Given the description of an element on the screen output the (x, y) to click on. 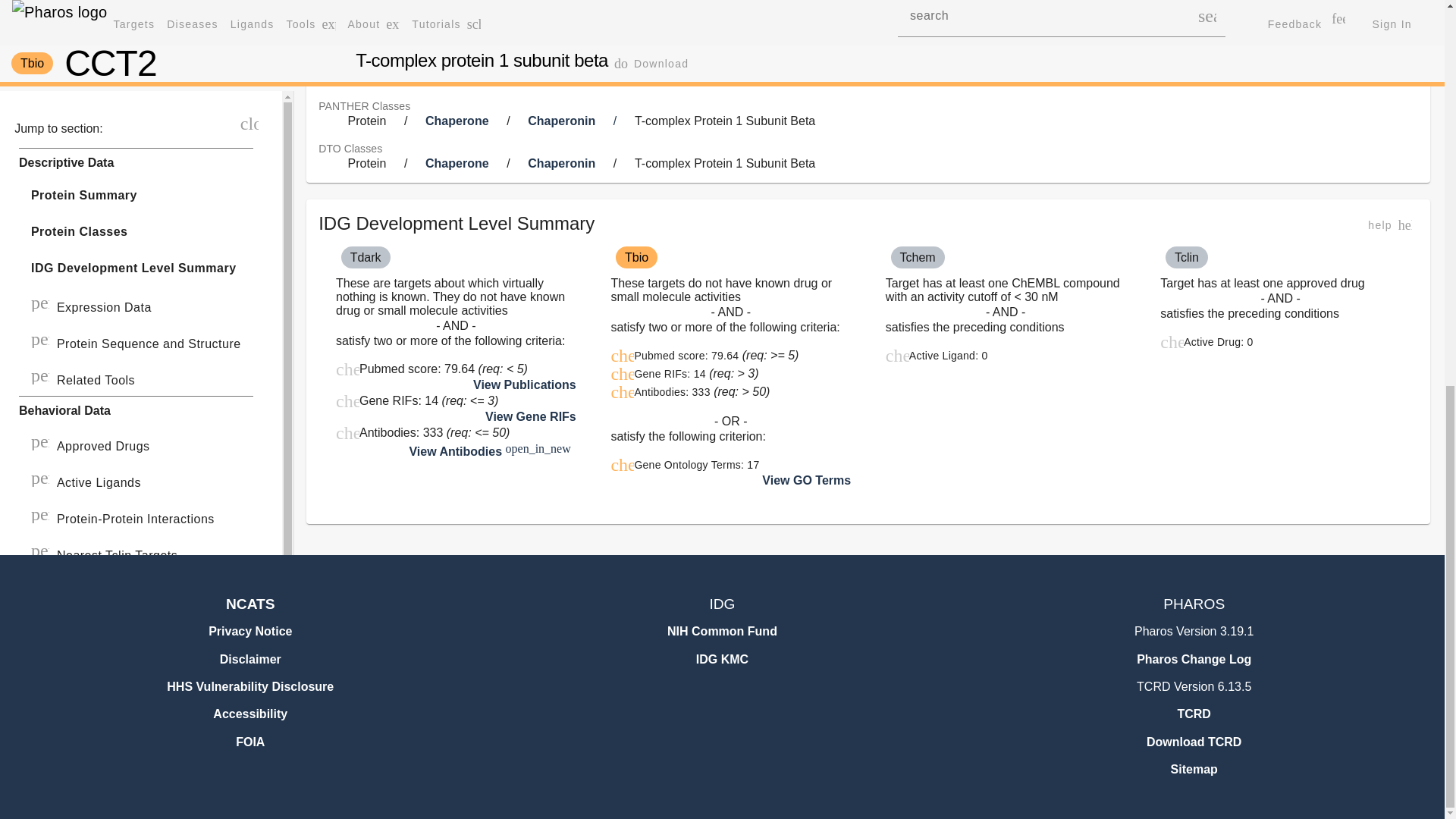
pendingDisease Associations (135, 36)
pendingGWAS Traits (135, 109)
pendingRelated Targets (135, 145)
pendingDisease Novelty (135, 73)
pendingGene Ontology Terms (135, 9)
